Given the description of an element on the screen output the (x, y) to click on. 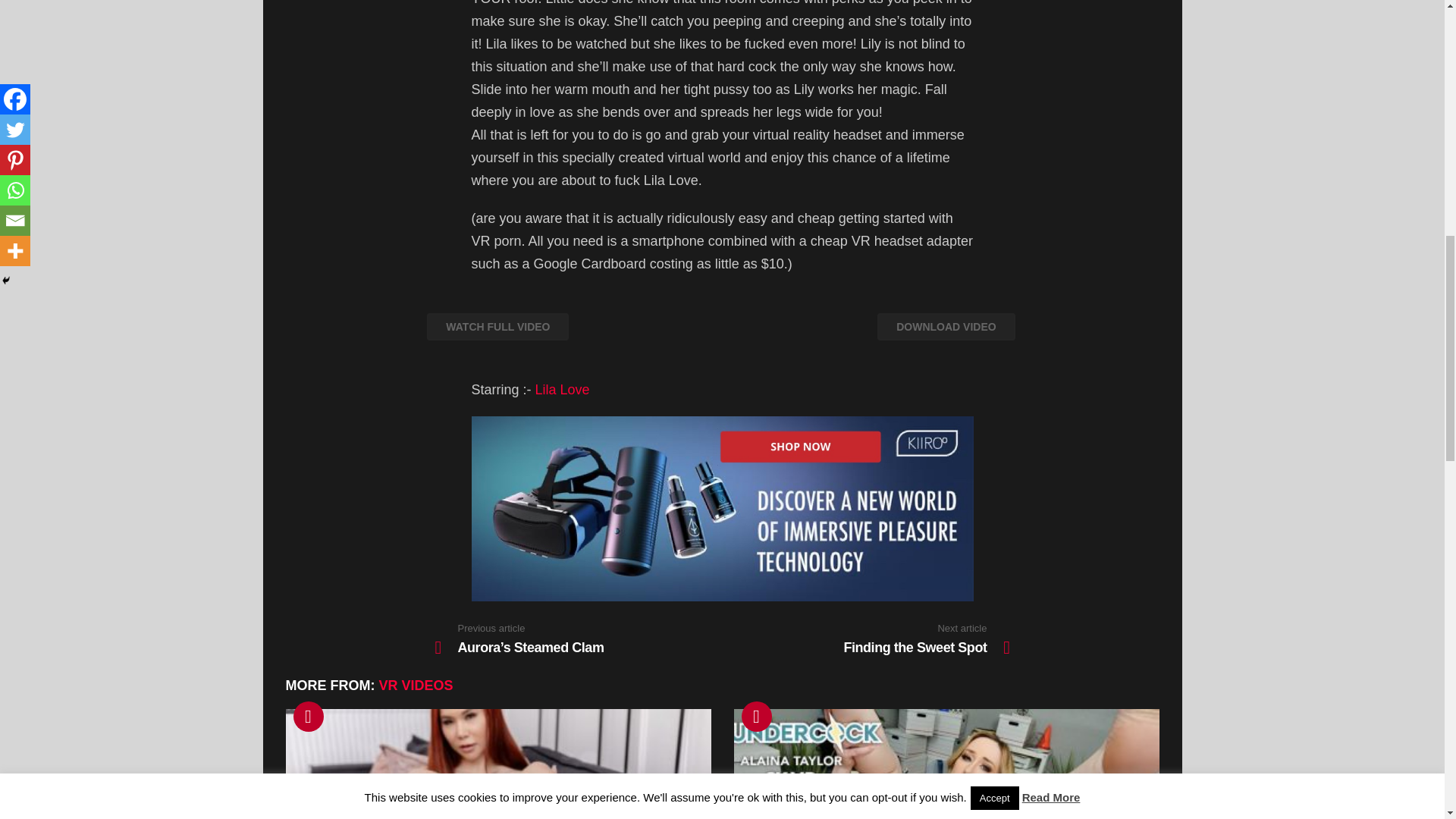
WATCH FULL VIDEO (497, 337)
Feet Obsession (497, 764)
DOWNLOAD VIDEO (945, 326)
DOWNLOAD VIDEO (945, 337)
WATCH FULL VIDEO (497, 326)
Lila Love (562, 389)
